Given the description of an element on the screen output the (x, y) to click on. 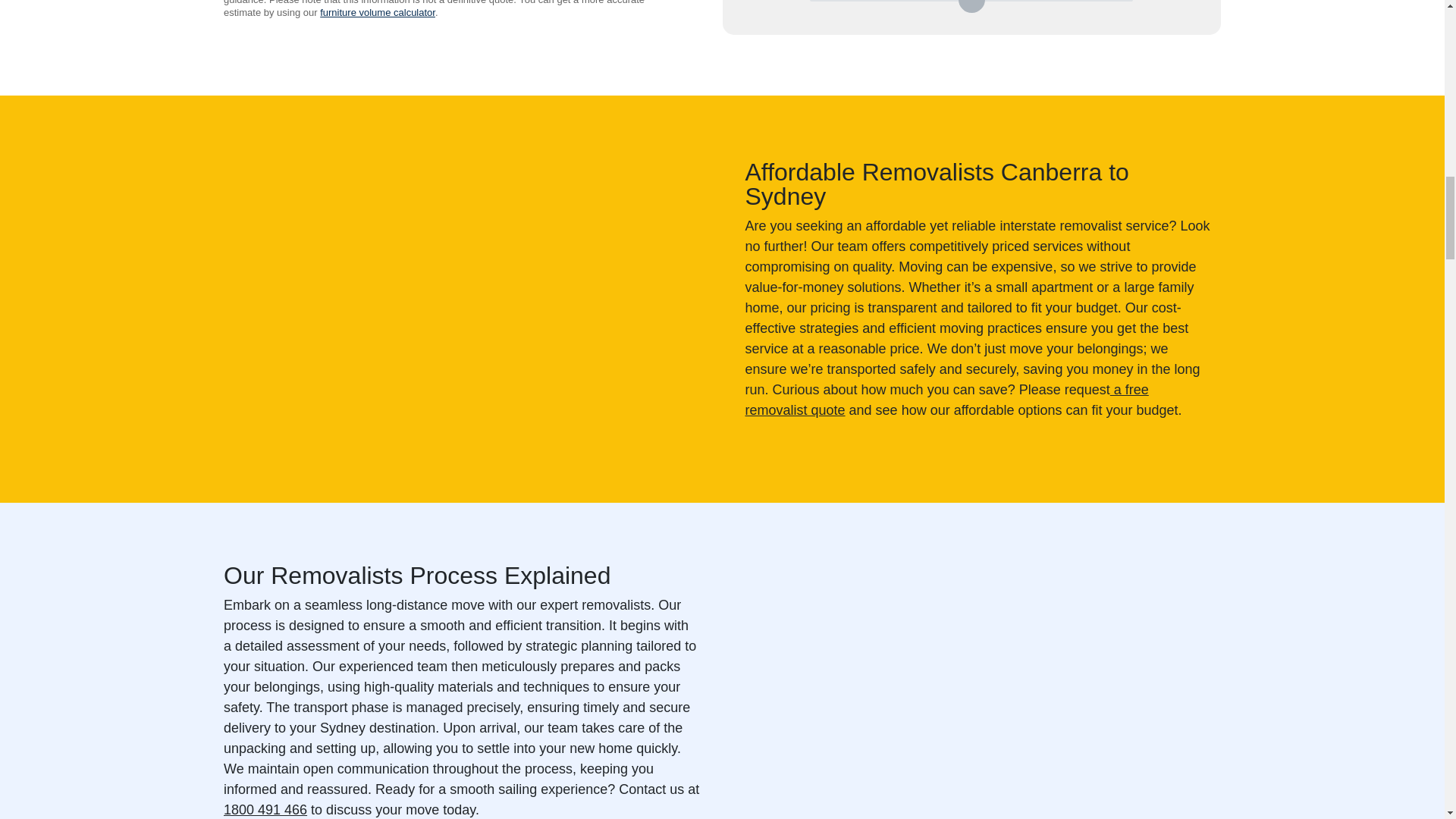
Our Removalists Process Explained (971, 691)
2 (970, 2)
